Given the description of an element on the screen output the (x, y) to click on. 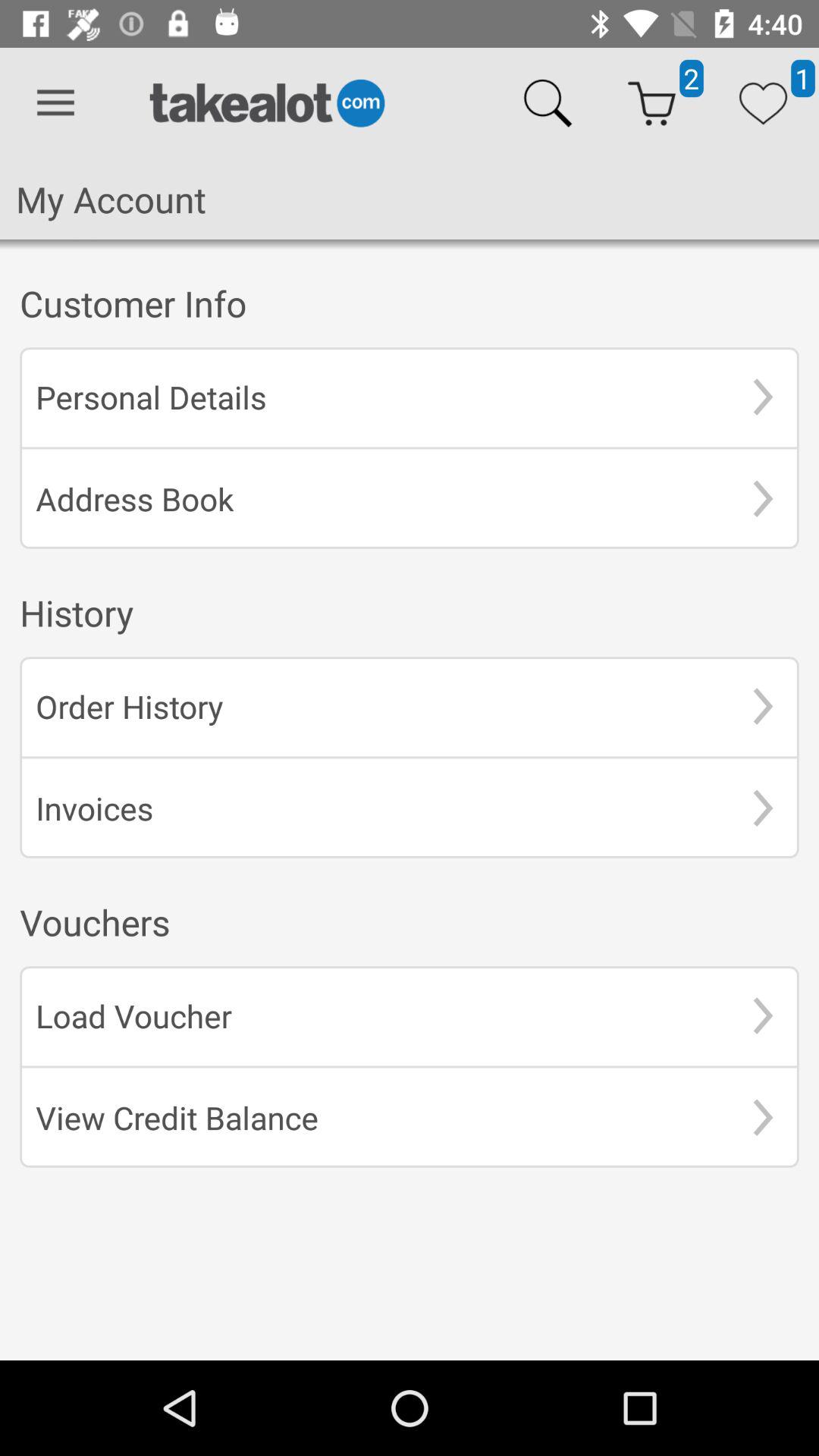
turn off the icon above my account item (55, 103)
